Given the description of an element on the screen output the (x, y) to click on. 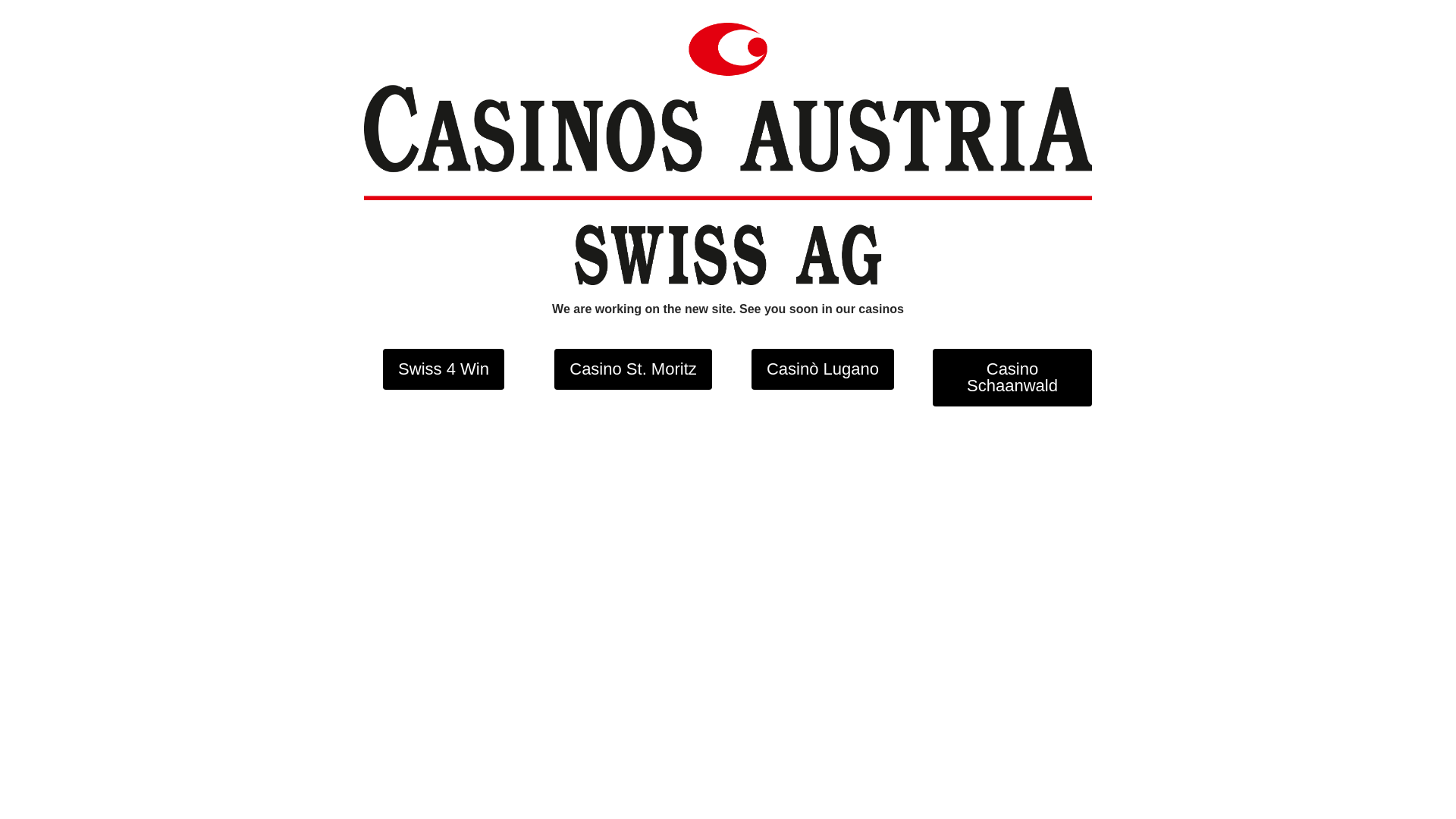
Casino St. Moritz Element type: text (633, 368)
Casino Schaanwald Element type: text (1012, 377)
Swiss 4 Win Element type: text (443, 368)
